Given the description of an element on the screen output the (x, y) to click on. 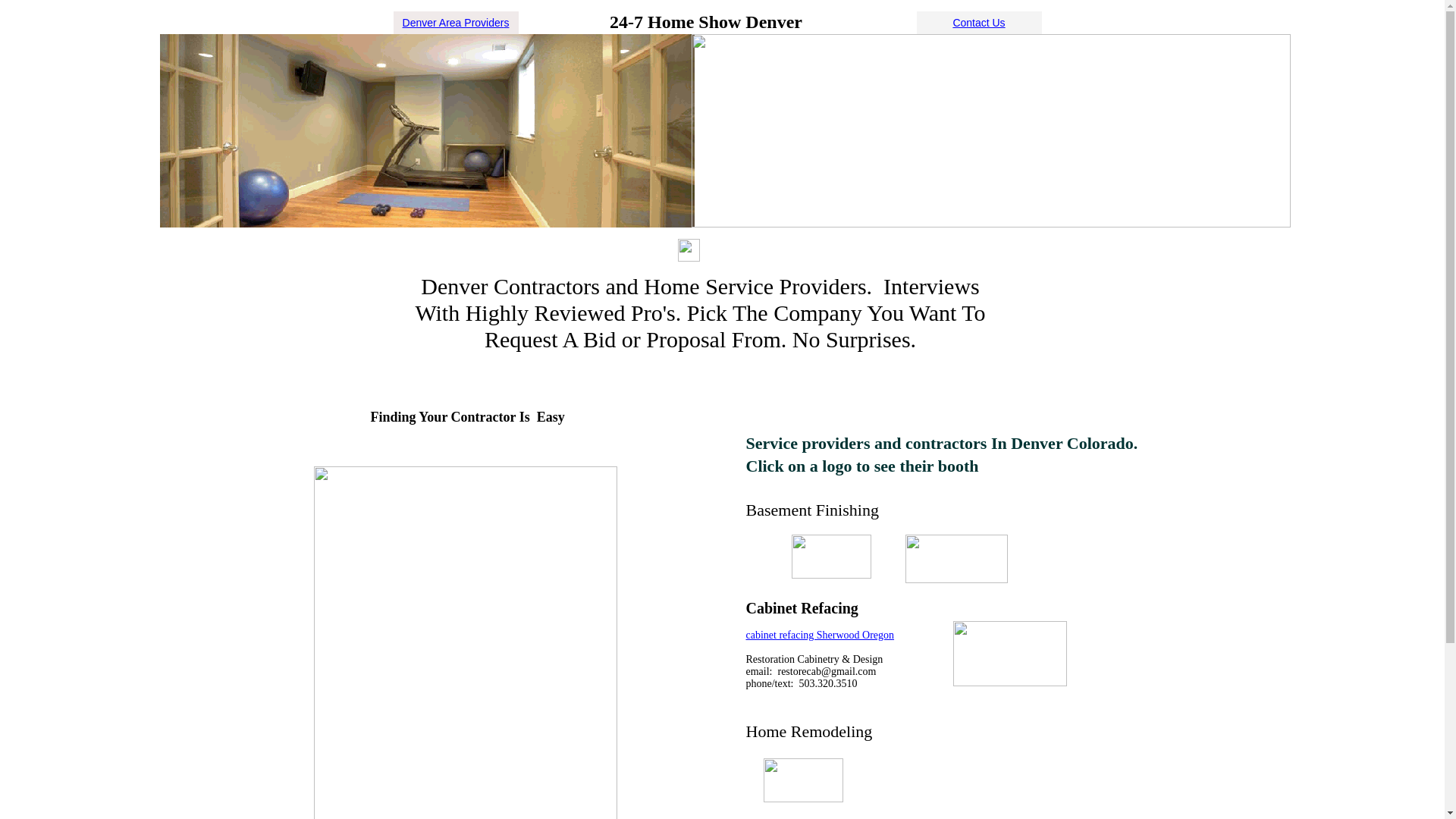
Contact Us Element type: text (978, 21)
Denver Area Provider Element type: text (453, 21)
cabinet refacing Sherwood Oregon Element type: text (820, 634)
s Element type: text (505, 21)
